Given the description of an element on the screen output the (x, y) to click on. 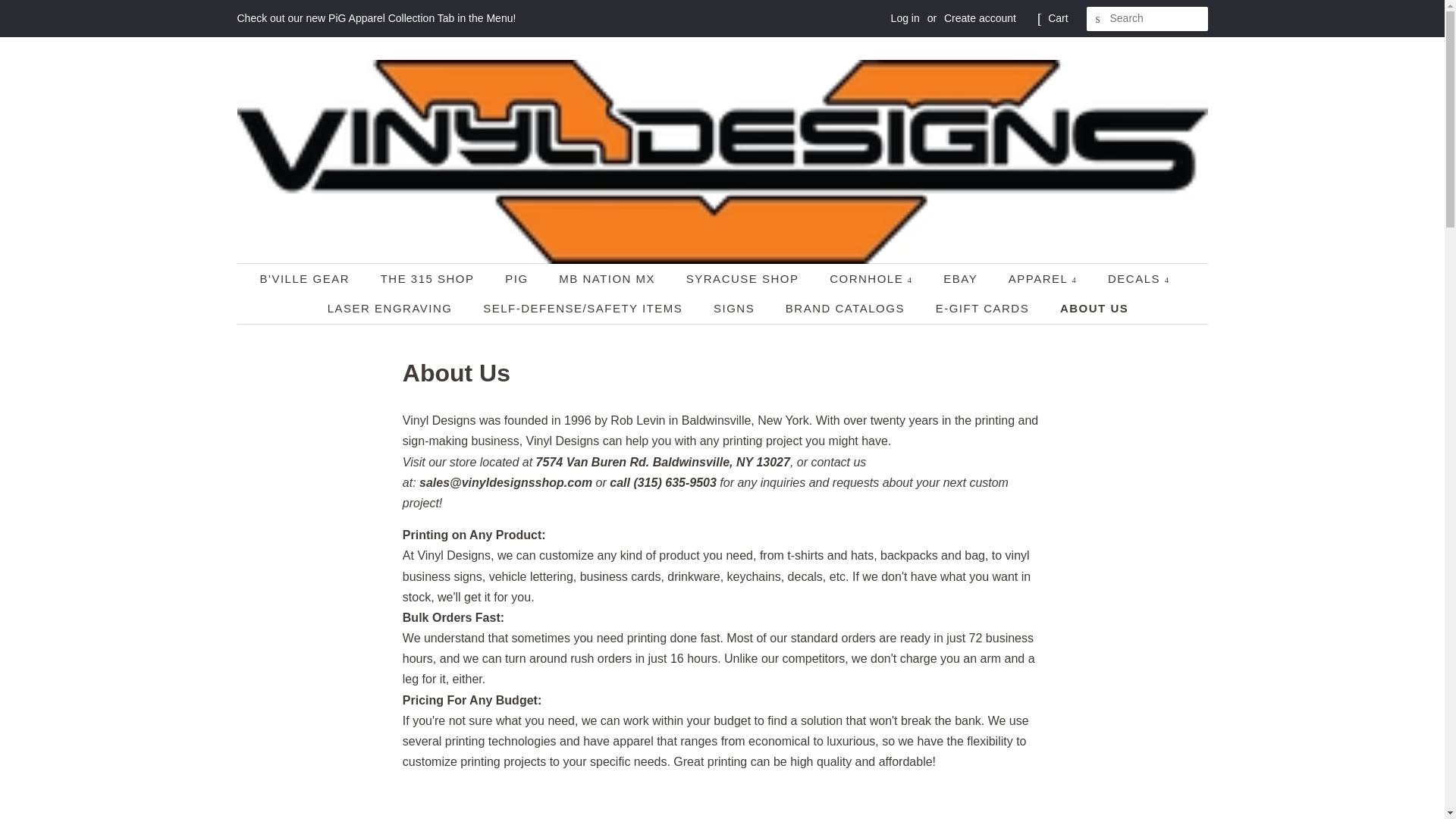
Create account (979, 18)
Log in (905, 18)
PIG (518, 278)
Cart (1057, 18)
B'VILLE GEAR (312, 278)
THE 315 SHOP (429, 278)
SEARCH (1097, 18)
